Given the description of an element on the screen output the (x, y) to click on. 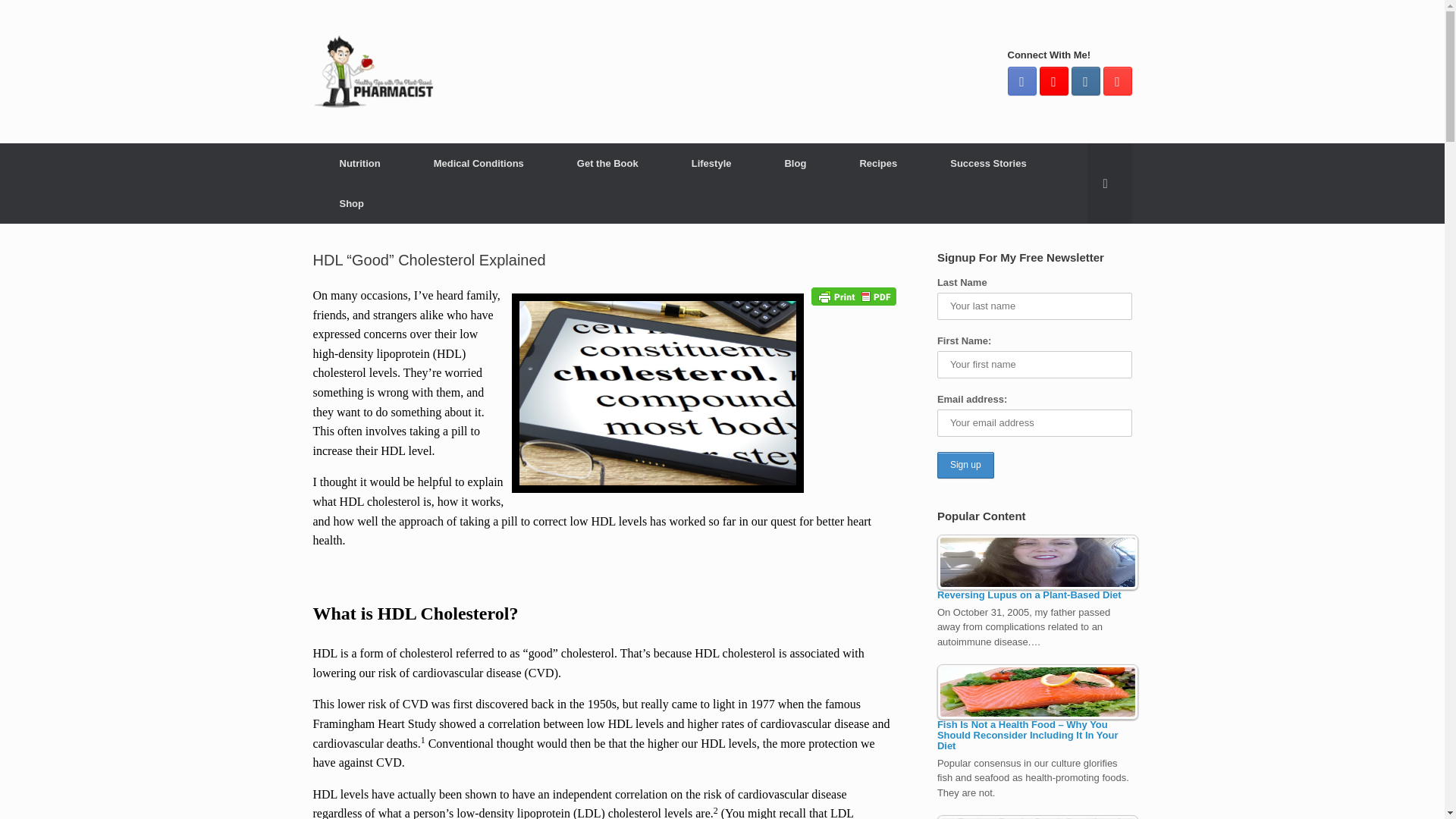
Reversing Lupus on a Plant-Based Diet (1037, 561)
Lifestyle (711, 163)
Plant Based Pharmacist Google Plus (1053, 80)
Recipes (877, 163)
Plant Based Pharmacist Facebook (1021, 80)
Plant Based Pharmacist (373, 71)
Medical Conditions (478, 163)
Plant Based Pharmacist Pinterest (1116, 80)
Sign up (965, 465)
Blog (794, 163)
Nutrition (359, 163)
Get the Book (607, 163)
Plant Based Pharmacist Instagram (1084, 80)
